Given the description of an element on the screen output the (x, y) to click on. 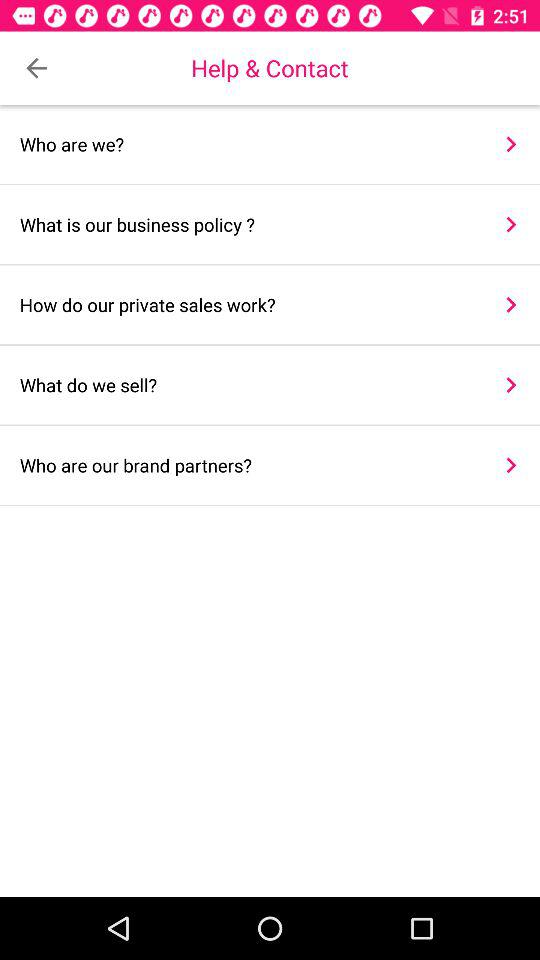
tap item next to the who are our item (510, 465)
